Given the description of an element on the screen output the (x, y) to click on. 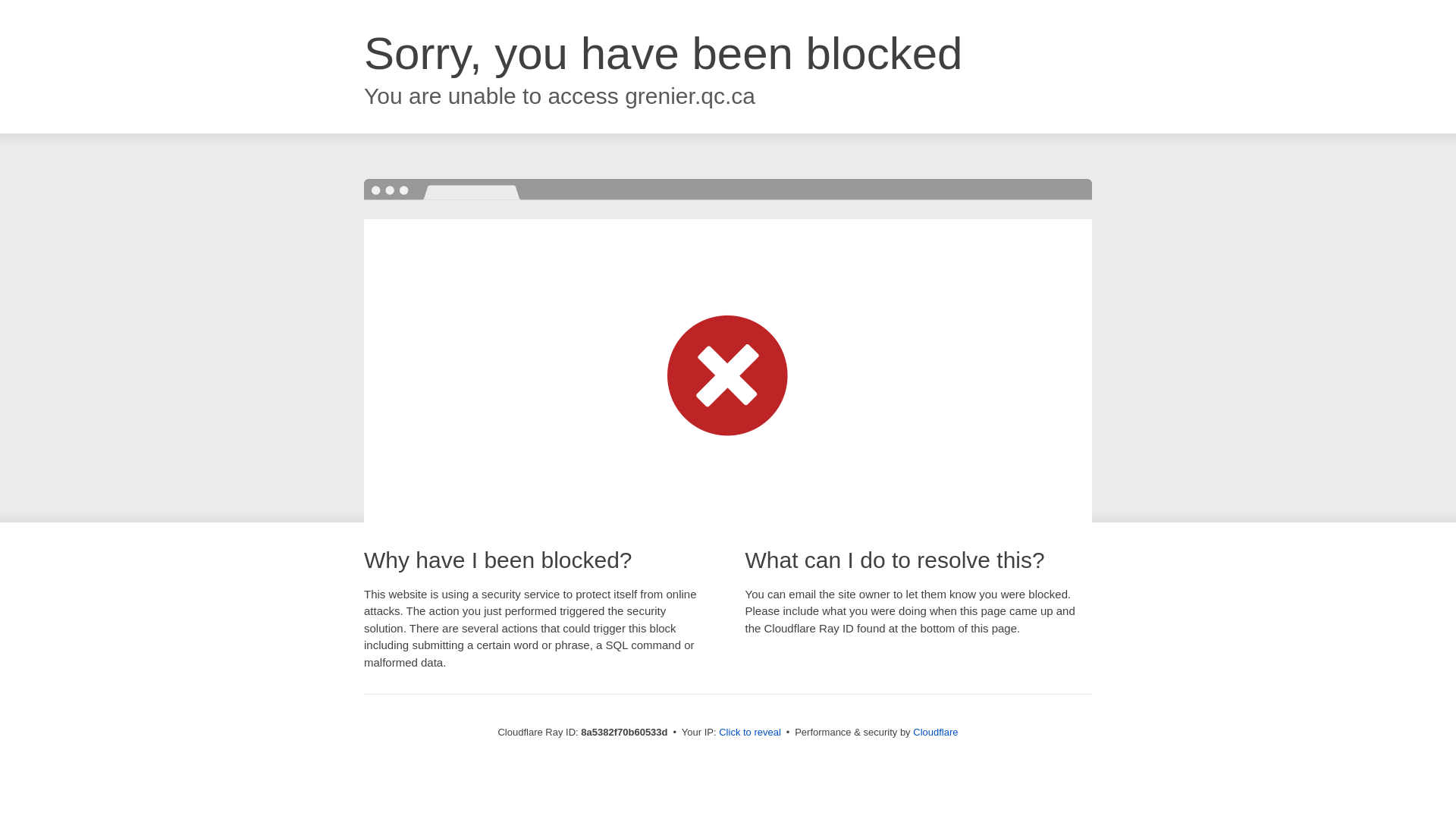
Cloudflare (935, 731)
Click to reveal (749, 732)
